Given the description of an element on the screen output the (x, y) to click on. 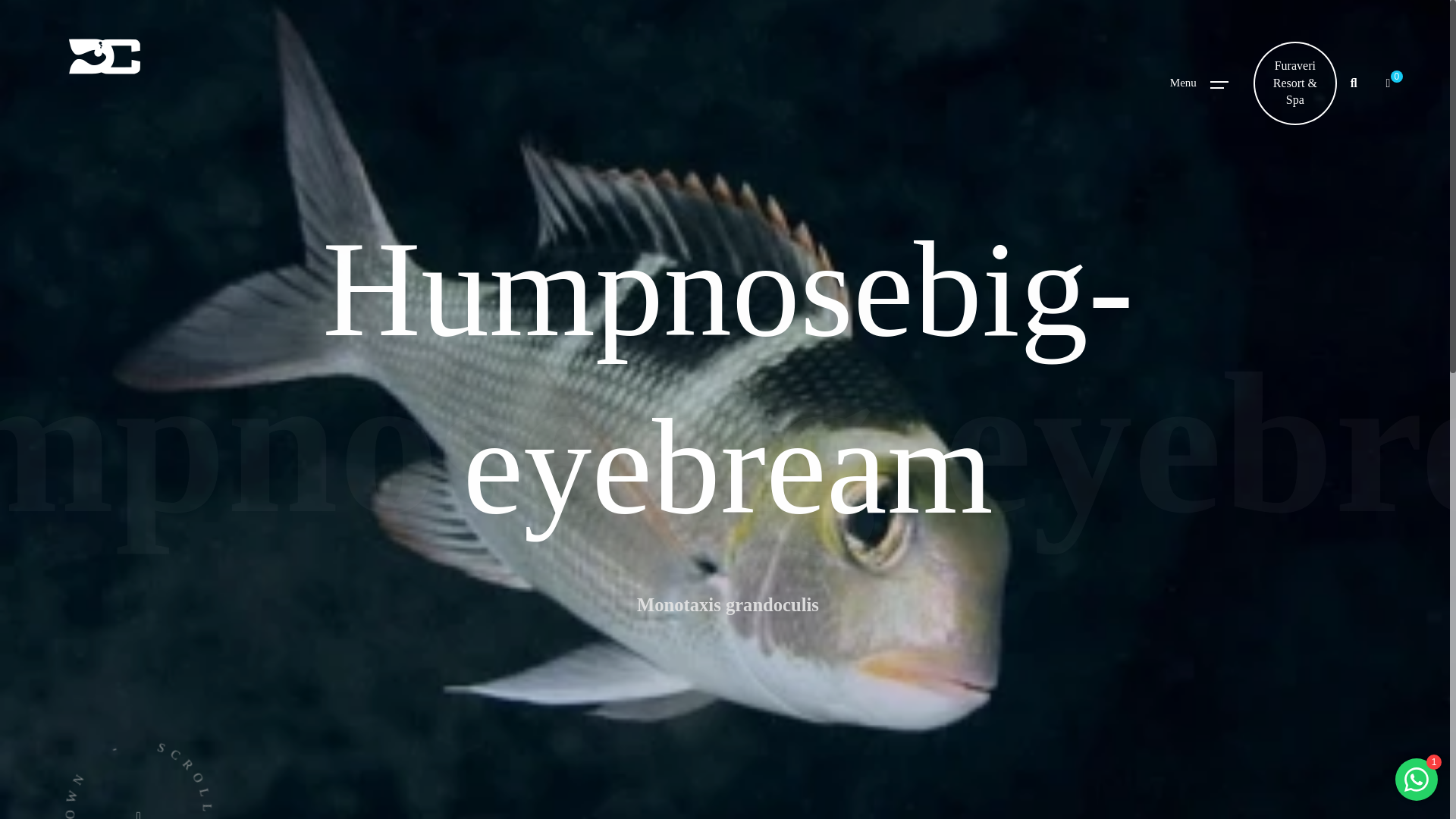
Shopping Cart (1388, 83)
Search (1353, 83)
